Given the description of an element on the screen output the (x, y) to click on. 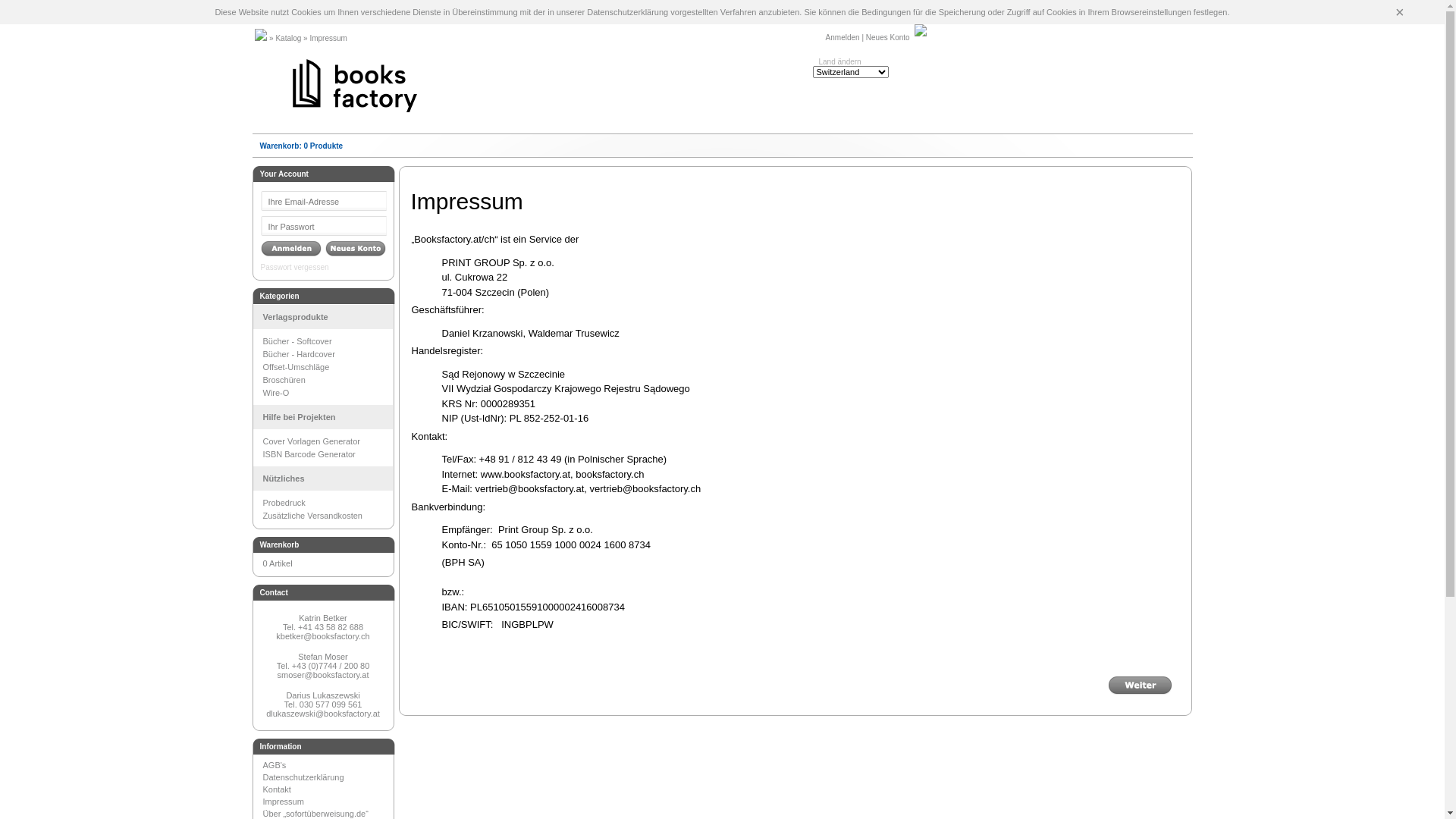
Warenkorb Element type: text (278, 145)
smoser@booksfactory.at Element type: text (322, 674)
Neues Konto Element type: text (888, 37)
kbetker@booksfactory.ch Element type: text (322, 635)
 Weiter  Element type: hover (1139, 685)
Impressum Element type: text (326, 801)
dlukaszewski@booksfactory.at Element type: text (322, 713)
Probedruck Element type: text (326, 502)
Tel. +41 43 58 82 688 Element type: text (322, 626)
Kontakt Element type: text (326, 788)
 Anmelden  Element type: hover (354, 249)
Cover Vorlagen Generator Element type: text (326, 440)
Wire-O Element type: text (326, 392)
Tel. 030 577 099 561 Element type: text (323, 704)
 Anmelden  Element type: hover (290, 249)
 Store Logo  Element type: hover (354, 85)
Passwort vergessen Element type: text (324, 267)
Tel. +43 (0)7744 / 200 80 Element type: text (323, 665)
Anmelden Element type: text (842, 37)
 HEADING_TITLE  Element type: hover (1184, 208)
ISBN Barcode Generator Element type: text (326, 453)
AGB's Element type: text (326, 764)
Katalog Element type: text (288, 38)
